Given the description of an element on the screen output the (x, y) to click on. 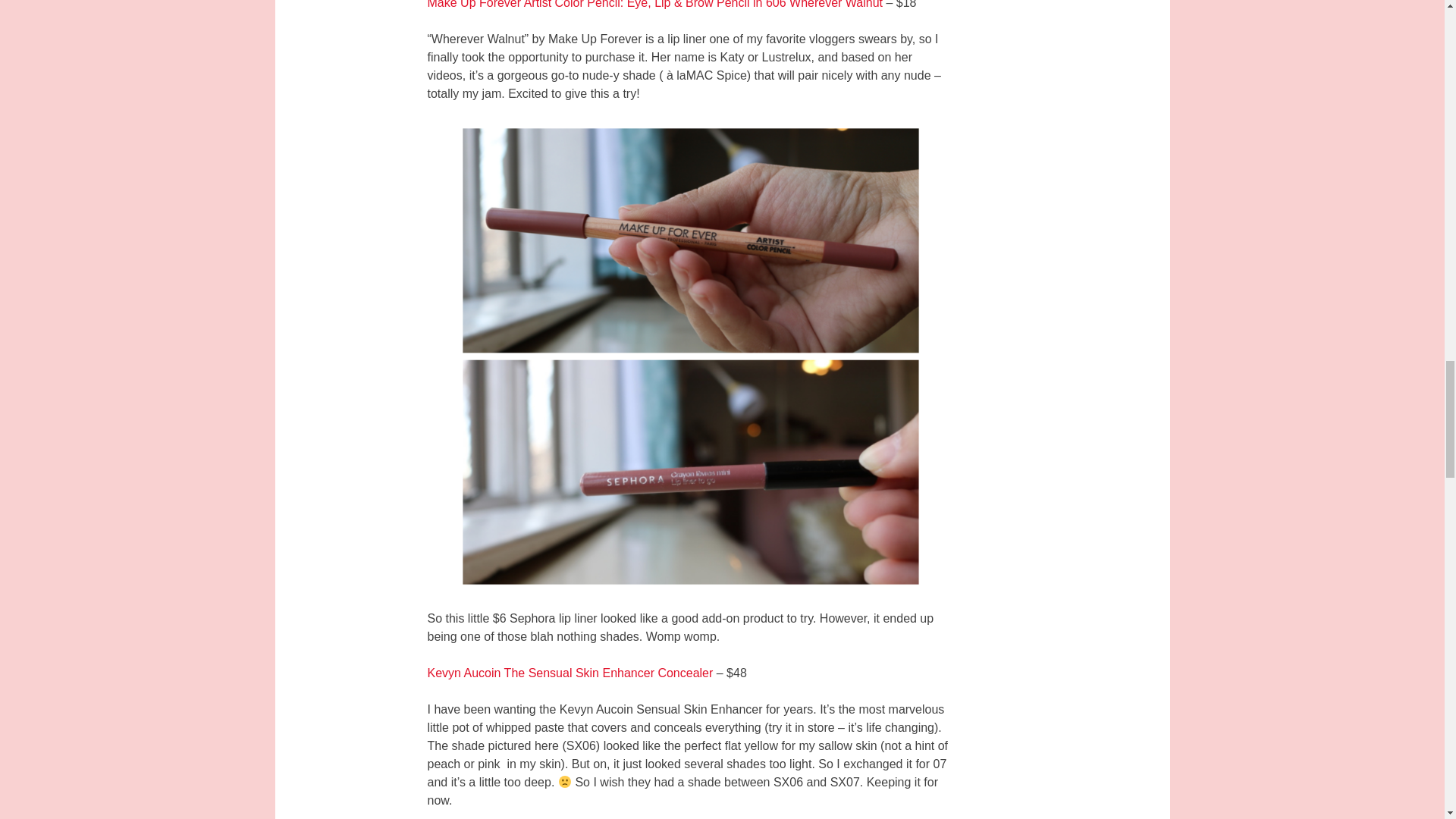
Kevyn Aucoin The Sensual Skin Enhancer Concealer (570, 672)
